Given the description of an element on the screen output the (x, y) to click on. 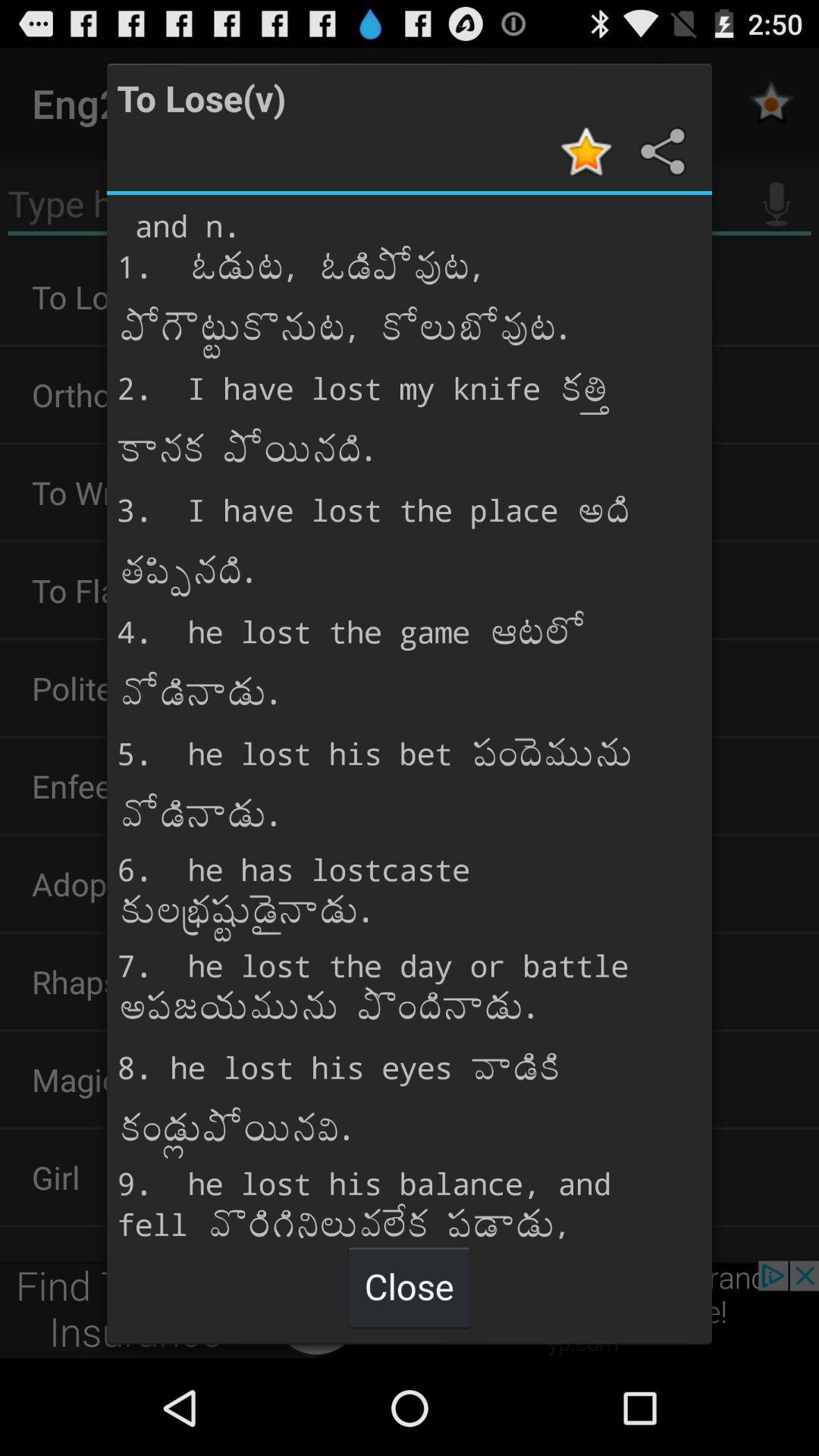
select close at the bottom (408, 1286)
